Given the description of an element on the screen output the (x, y) to click on. 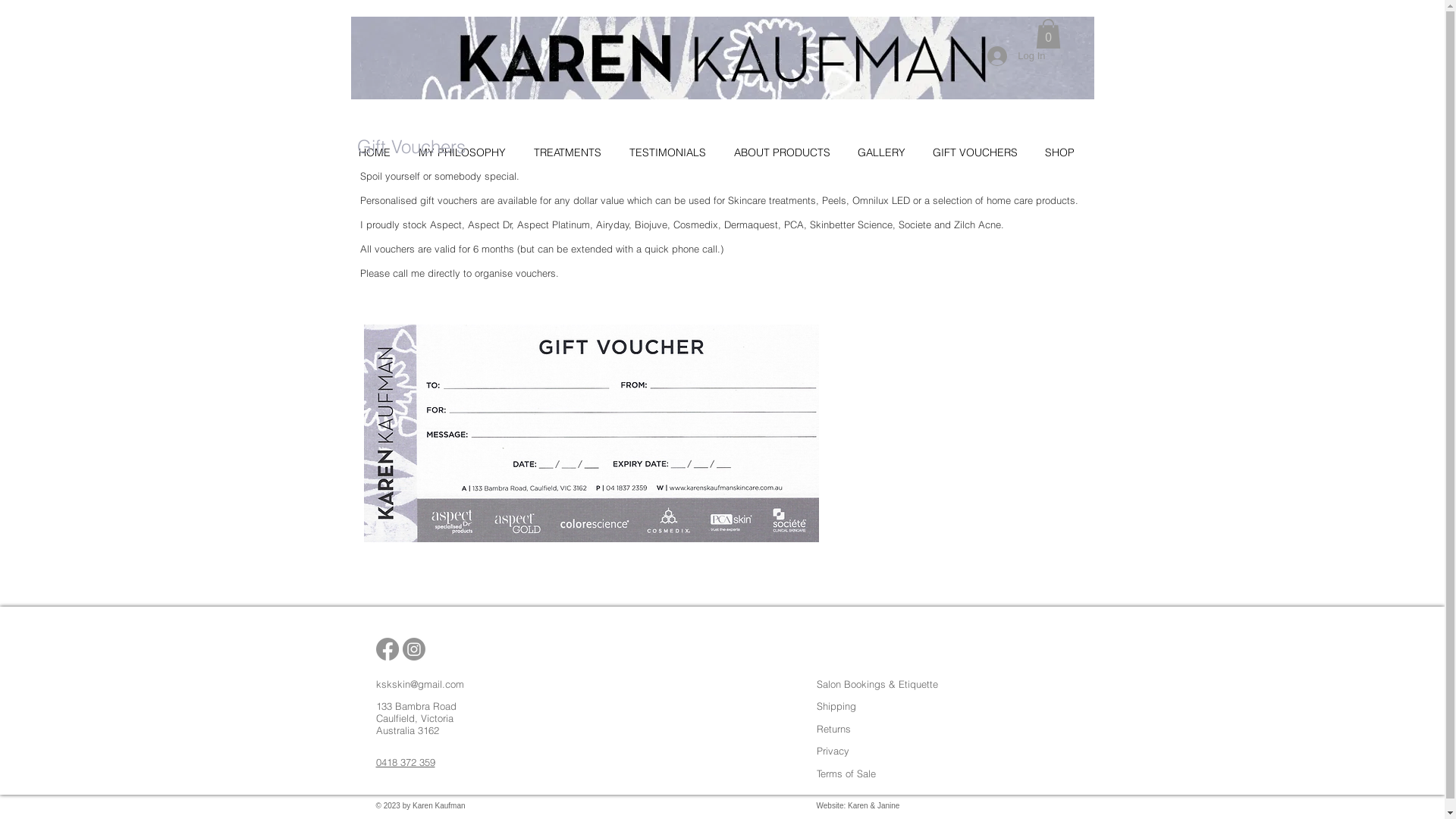
Log In Element type: text (1015, 55)
Returns Element type: text (832, 728)
GALLERY Element type: text (886, 151)
MY PHILOSOPHY Element type: text (468, 151)
SHOP Element type: text (1065, 151)
kskskin@gmail.com Element type: text (420, 683)
GIFT VOUCHERS Element type: text (981, 151)
karen k logo.jpg Element type: hover (721, 57)
TESTIMONIALS Element type: text (673, 151)
Shipping Element type: text (835, 705)
0 Element type: text (1047, 33)
Privacy Element type: text (831, 750)
aaa ksk new 2018 gift voucher.png Element type: hover (591, 433)
TREATMENTS Element type: text (573, 151)
0418 372 359 Element type: text (405, 762)
Salon Bookings & Etiquette Element type: text (876, 683)
Terms of Sale Element type: text (845, 773)
ABOUT PRODUCTS Element type: text (788, 151)
HOME Element type: text (380, 151)
